Given the description of an element on the screen output the (x, y) to click on. 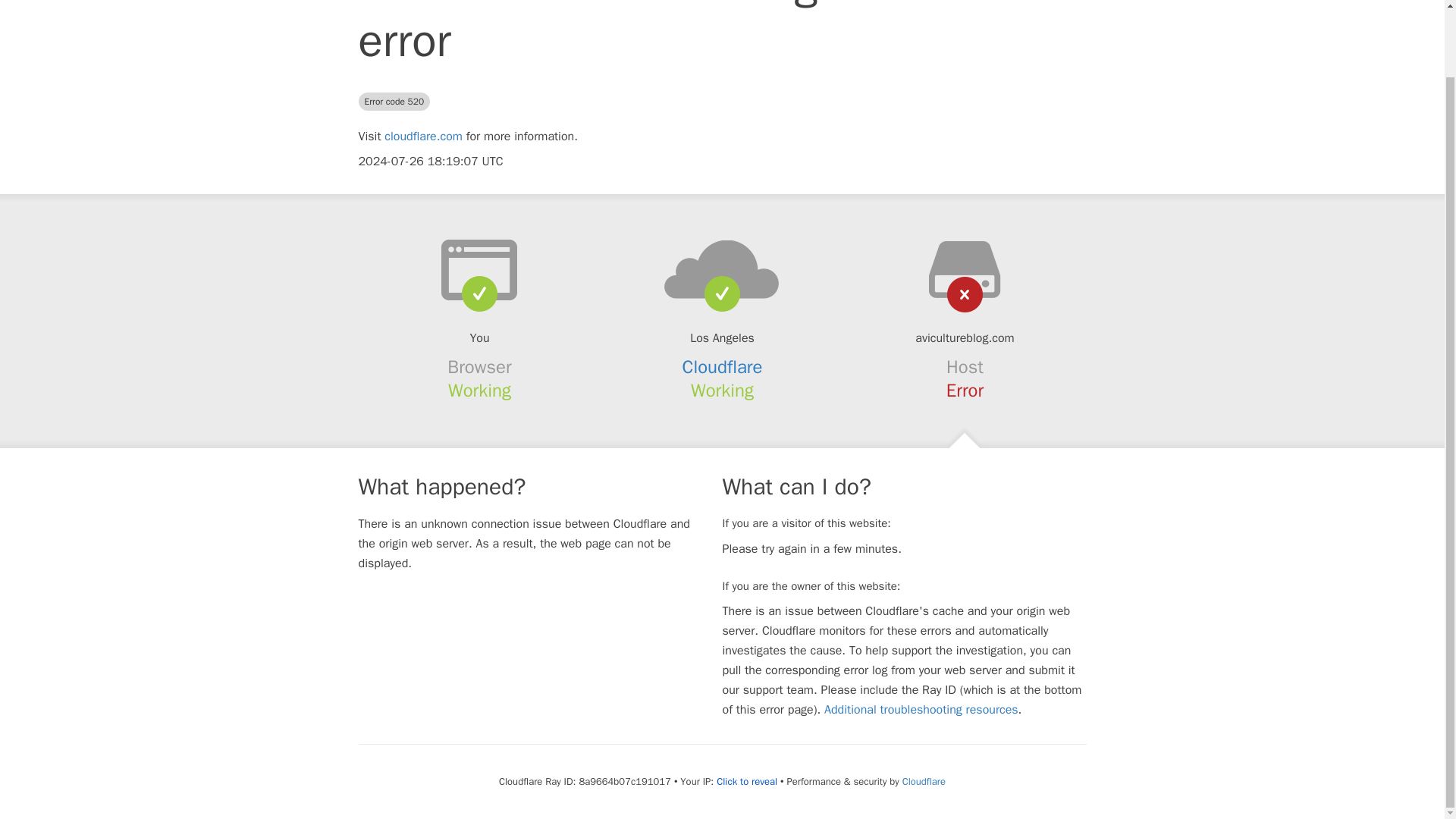
Cloudflare (722, 366)
Additional troubleshooting resources (920, 709)
cloudflare.com (423, 136)
Click to reveal (746, 781)
Cloudflare (923, 780)
